Given the description of an element on the screen output the (x, y) to click on. 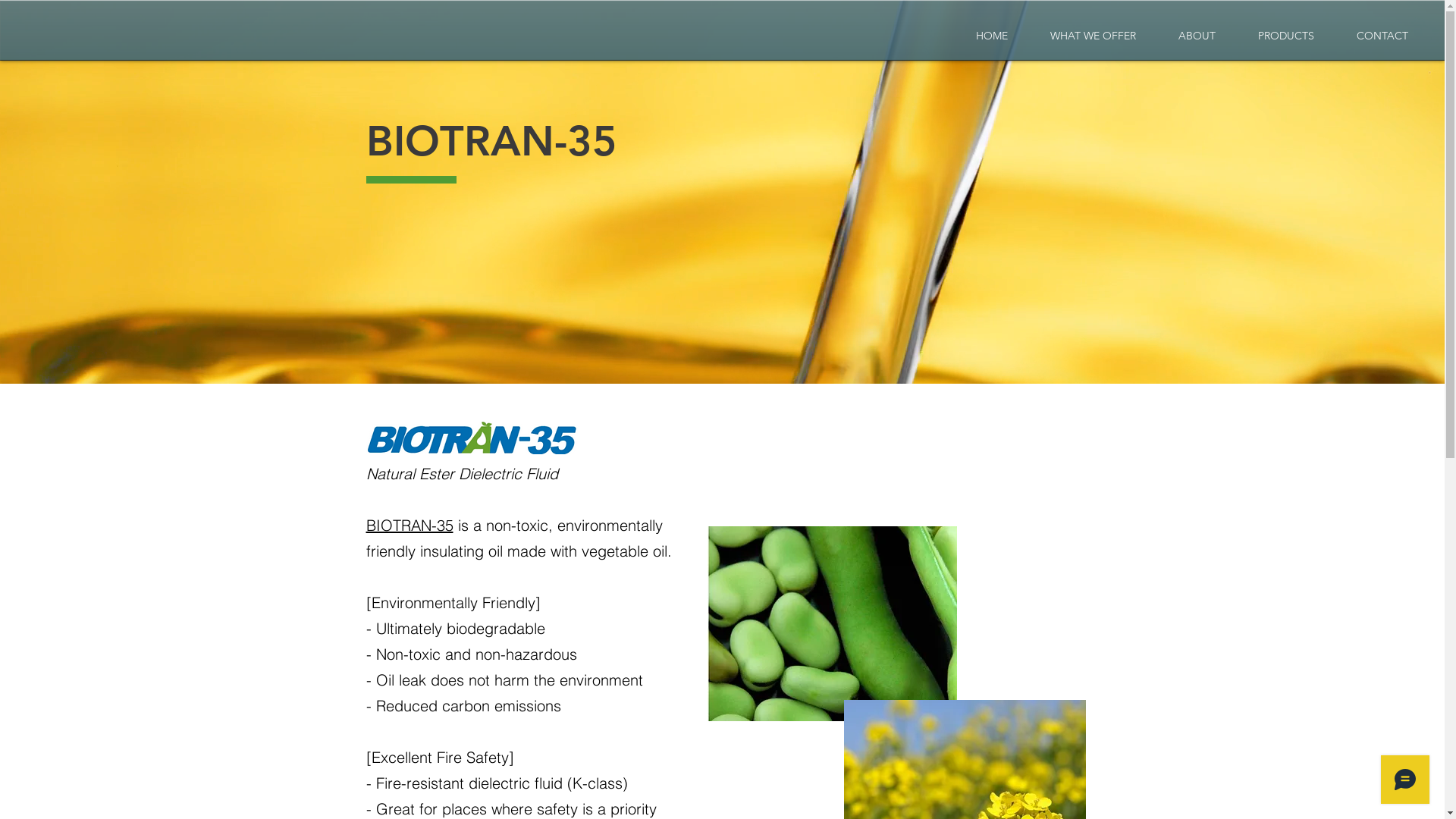
WHAT WE OFFER Element type: text (1093, 35)
PRODUCTS Element type: text (1285, 35)
BIOTRAN-35 Element type: text (408, 524)
CONTACT Element type: text (1382, 35)
HOME Element type: text (991, 35)
ABOUT Element type: text (1196, 35)
